Given the description of an element on the screen output the (x, y) to click on. 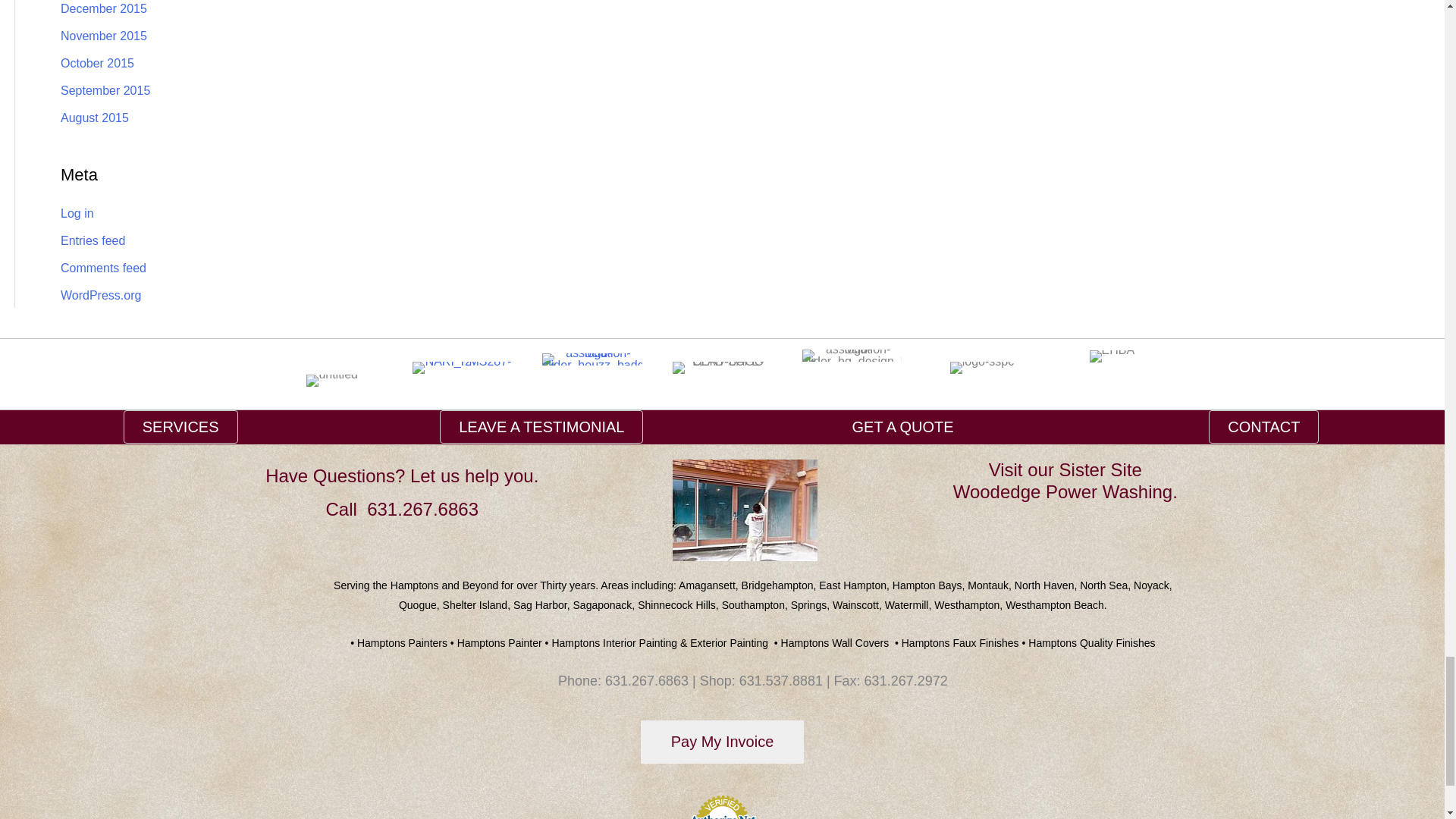
logo-sspc (981, 367)
untitled (331, 380)
LEAD-SAFE-CERT-LOGO (721, 367)
Pay My Invoice (722, 741)
